Given the description of an element on the screen output the (x, y) to click on. 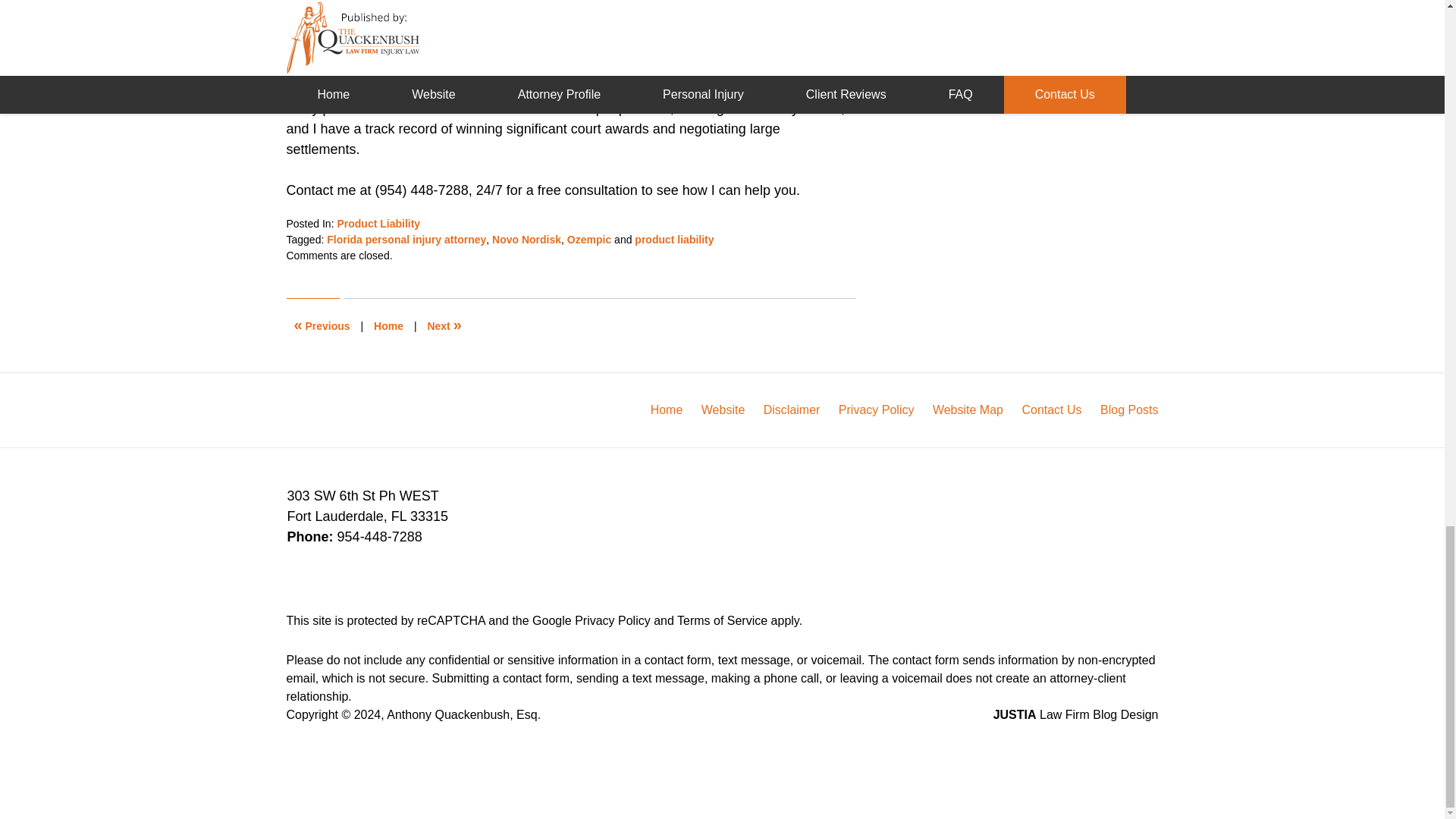
Product Liability (378, 223)
View all posts tagged with product liability (673, 239)
View all posts tagged with Florida personal injury attorney (406, 239)
Novo Nordisk (526, 239)
View all posts tagged with Ozempic (589, 239)
Ozempic (589, 239)
View all posts in Product Liability (378, 223)
Spinal Cord Injuries (322, 325)
product liability (673, 239)
Home (388, 325)
View all posts tagged with Novo Nordisk (526, 239)
Mounjaro Lawsuits (443, 325)
Florida personal injury attorney (406, 239)
